Given the description of an element on the screen output the (x, y) to click on. 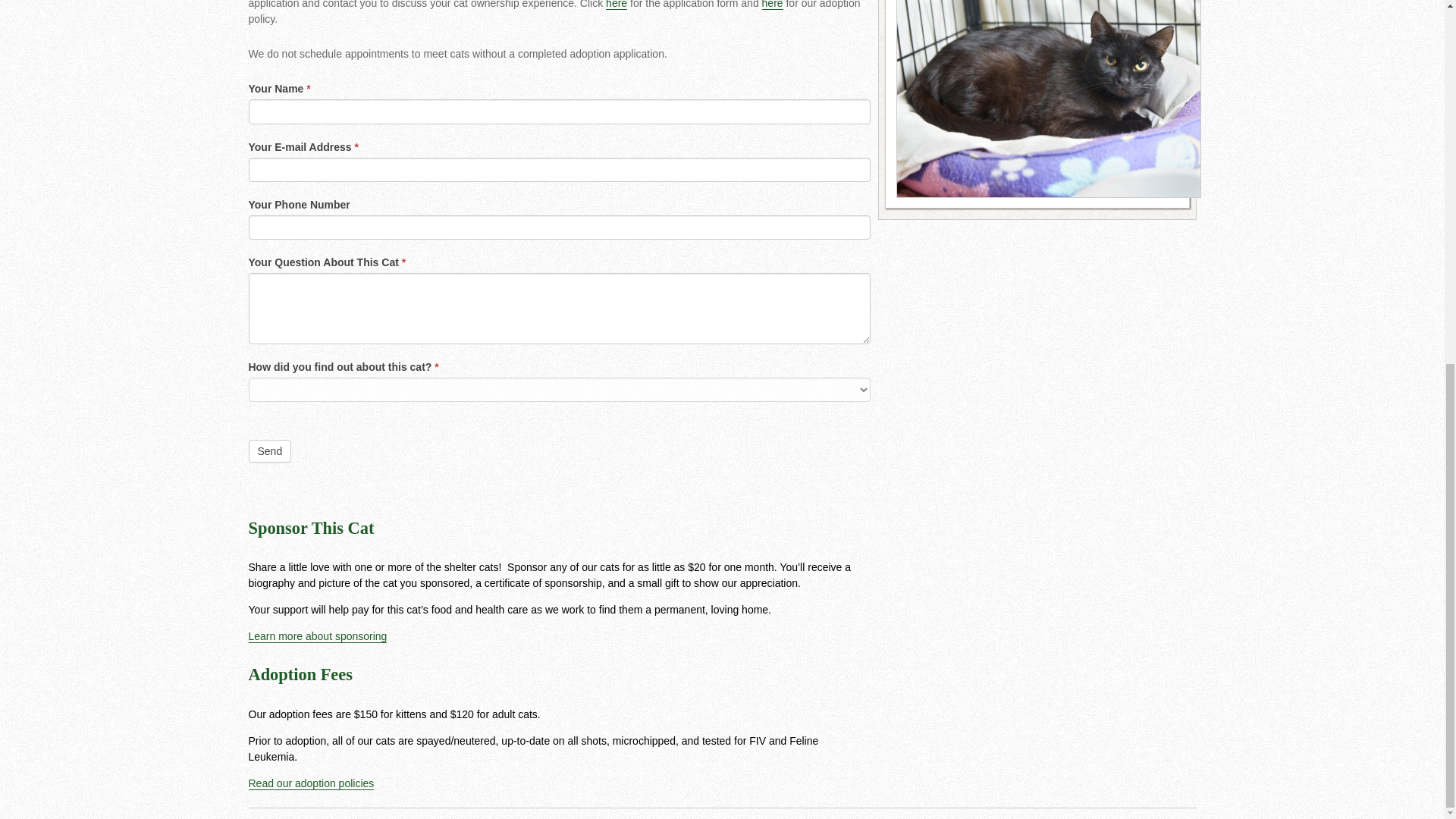
Learn more about sponsoring (317, 635)
here (616, 4)
Read our adoption policies (311, 783)
Send (270, 450)
Send (270, 450)
here (772, 4)
